Given the description of an element on the screen output the (x, y) to click on. 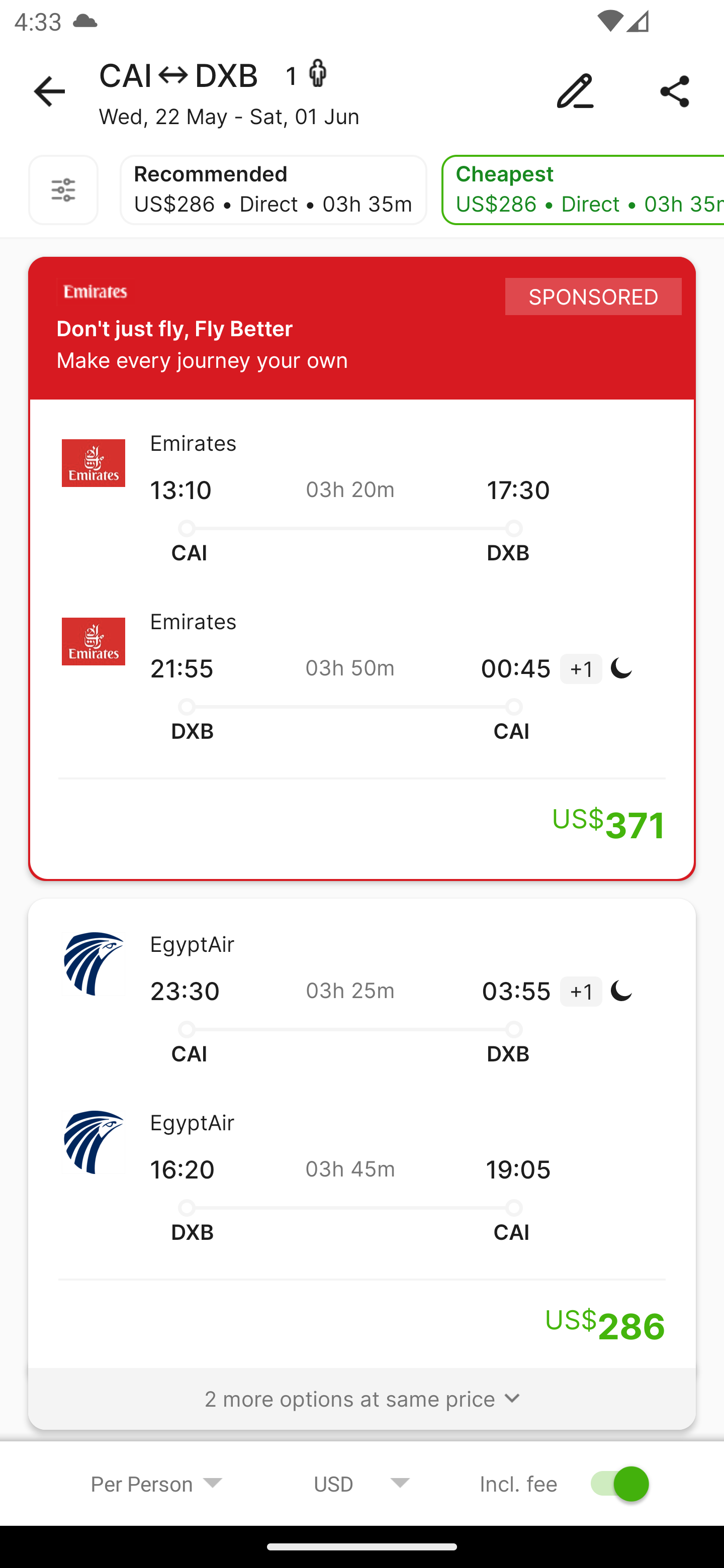
CAI DXB   1 - Wed, 22 May - Sat, 01 Jun (361, 91)
Recommended  US$286 • Direct • 03h 35m (273, 190)
Cheapest US$286 • Direct • 03h 35m (582, 190)
2 more options at same price (361, 1390)
Per Person (156, 1482)
USD (361, 1482)
